Given the description of an element on the screen output the (x, y) to click on. 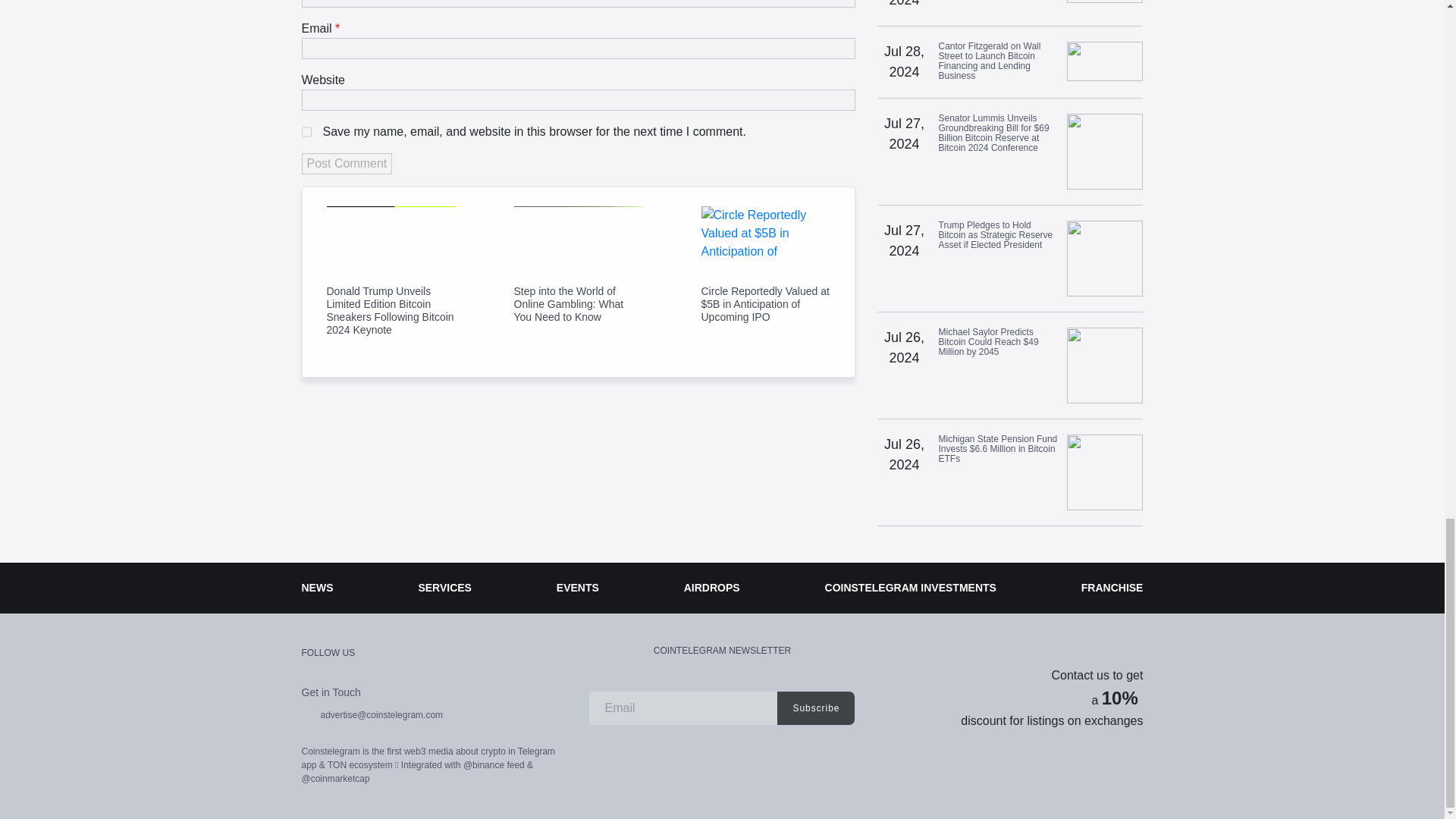
Post Comment (347, 163)
